Given the description of an element on the screen output the (x, y) to click on. 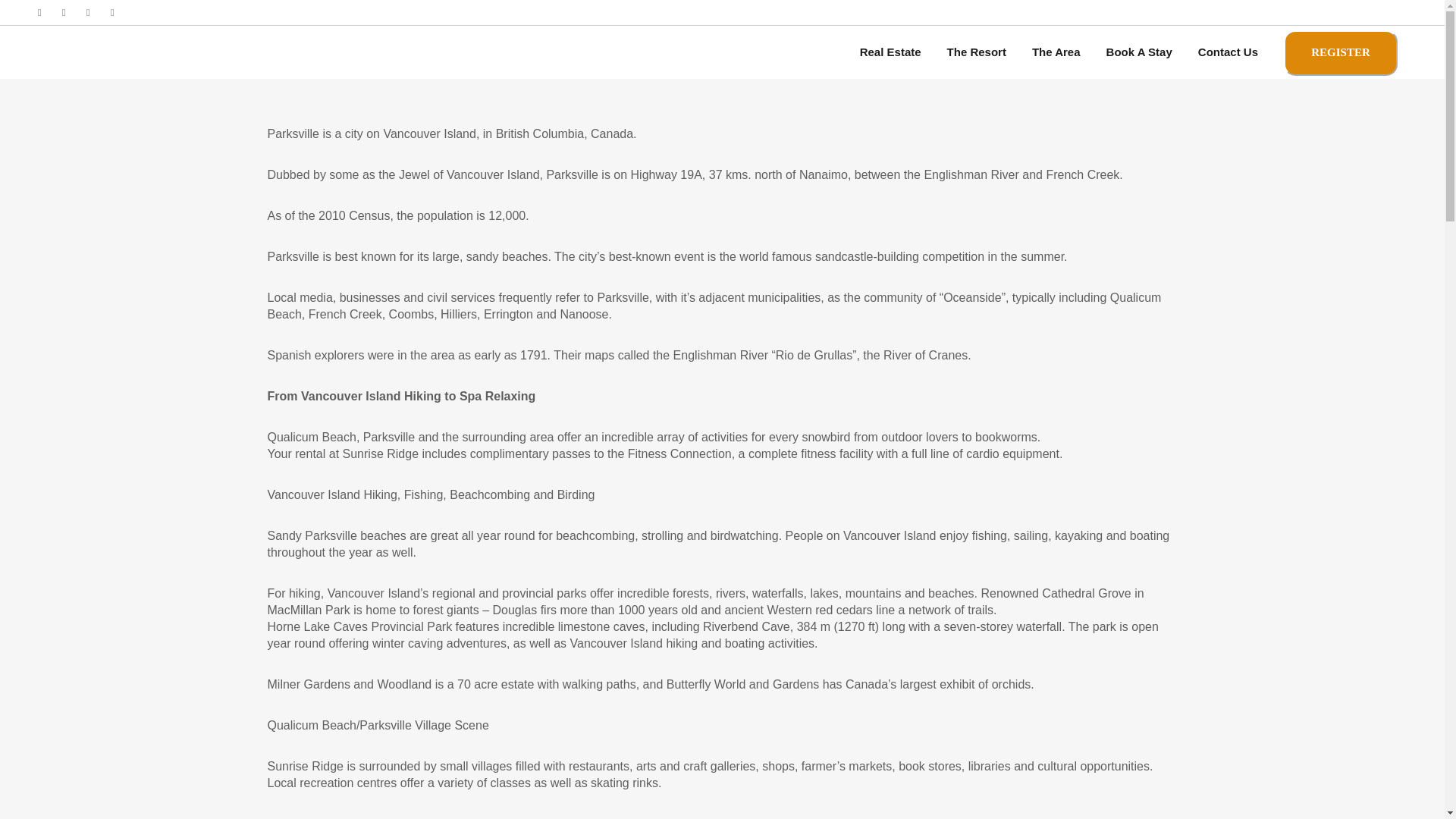
Real Estate (890, 51)
The Area (1056, 51)
REGISTER (1340, 53)
The Resort (976, 51)
REGISTER (1340, 51)
Book A Stay (1139, 51)
Contact Us (1228, 51)
